Given the description of an element on the screen output the (x, y) to click on. 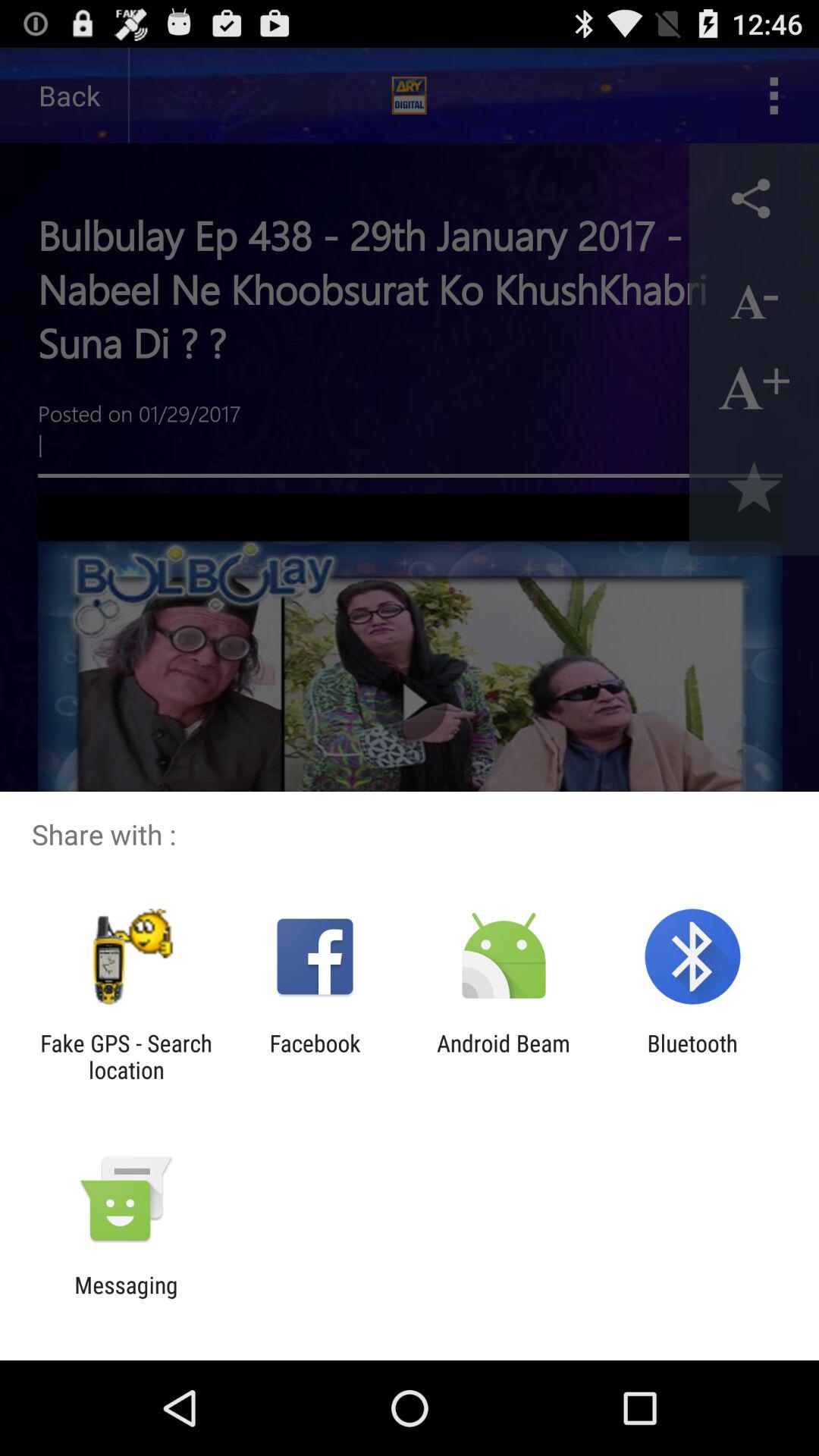
scroll until the android beam icon (503, 1056)
